Given the description of an element on the screen output the (x, y) to click on. 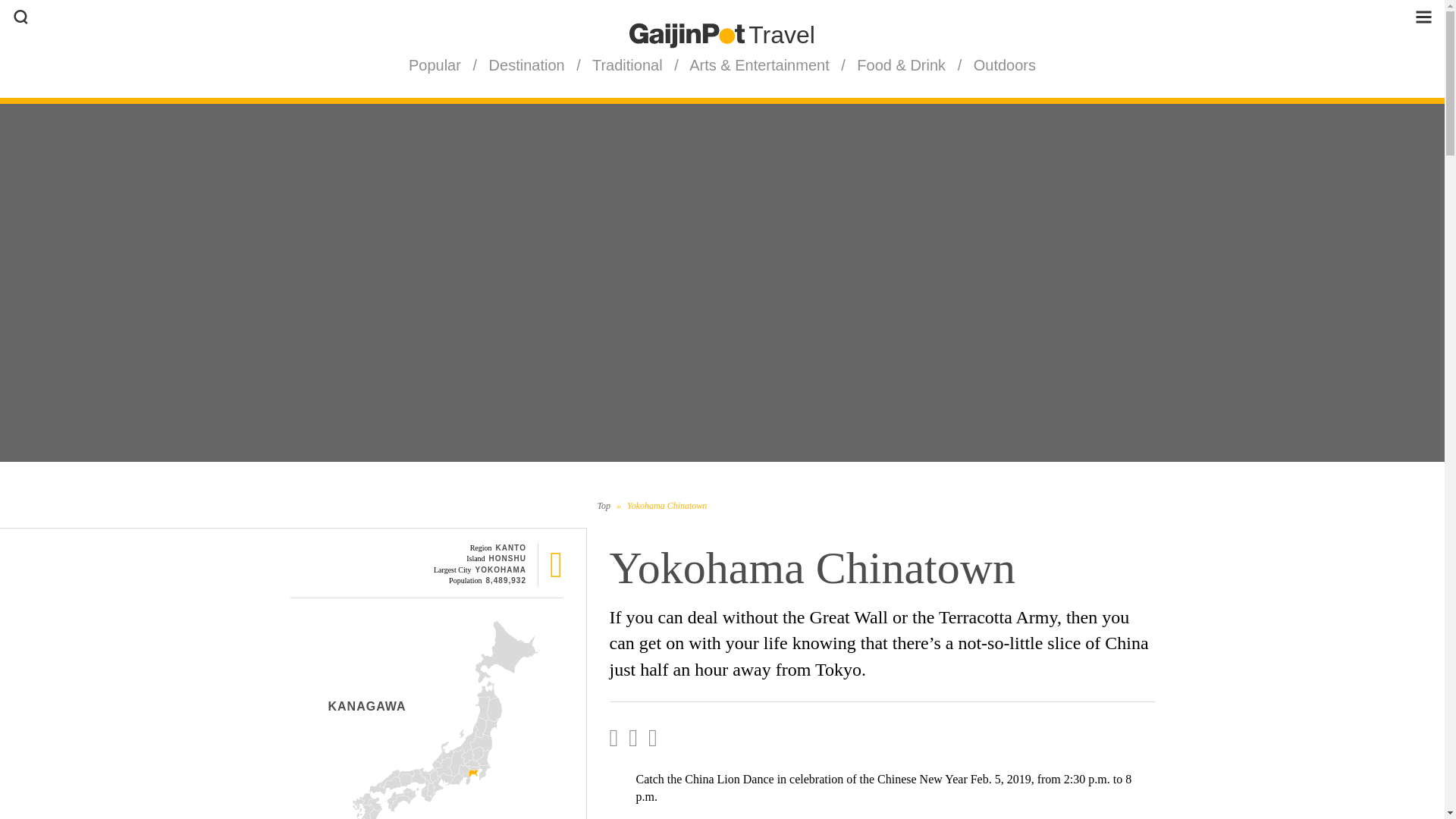
KANTO (510, 547)
HONSHU (507, 558)
KANAGAWA (366, 706)
Gaijinpot (686, 35)
Popular (437, 64)
Outdoors (1002, 64)
Traditional (627, 64)
Top (603, 505)
Destination (526, 64)
Open Menu (1422, 16)
